Given the description of an element on the screen output the (x, y) to click on. 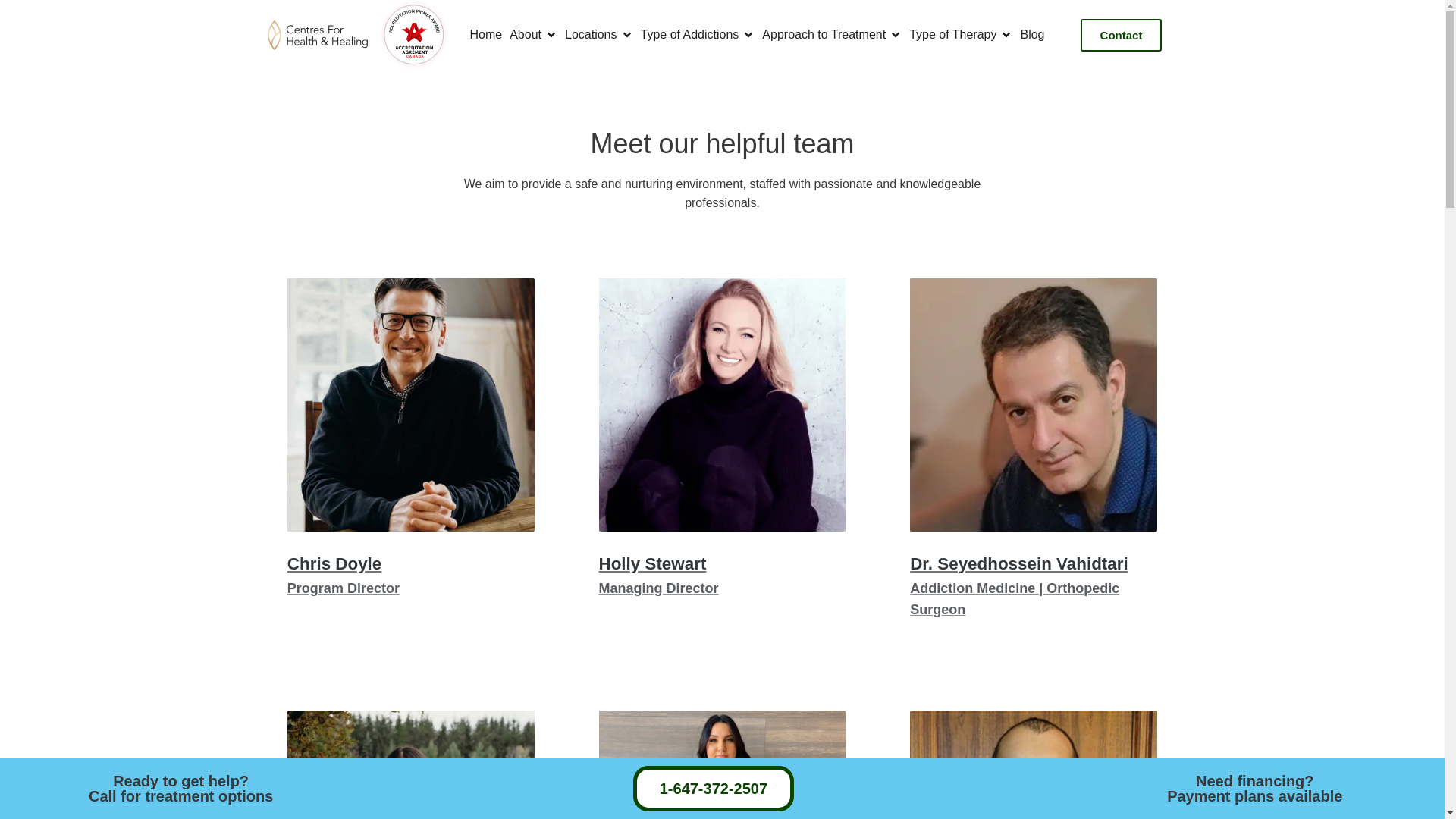
Type of Addictions (689, 34)
About (525, 34)
Home (486, 34)
Locations (590, 34)
